Given the description of an element on the screen output the (x, y) to click on. 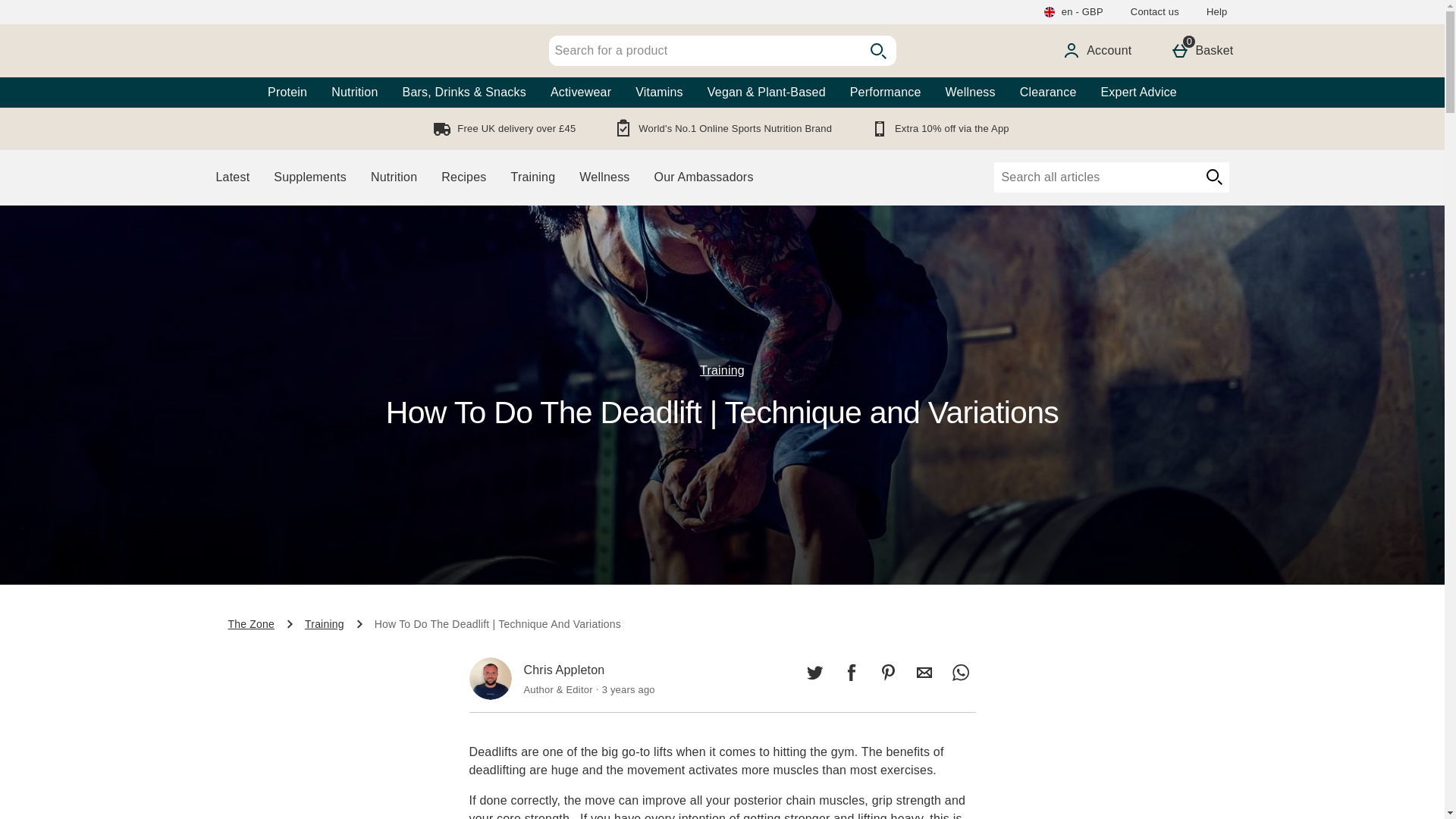
Search Articles (1095, 177)
Contact us (1154, 12)
Share this by Email (923, 672)
Account (1201, 50)
Share this on Facebook (1096, 50)
Help (850, 672)
Share this on Twitter (1216, 12)
Skip to main content (814, 672)
Share this on Pinterest (56, 9)
Share this on WhatsApp (887, 672)
Chris Appleton (959, 672)
en - GBP (489, 678)
start article search (1072, 12)
Search for a product (1213, 177)
